Given the description of an element on the screen output the (x, y) to click on. 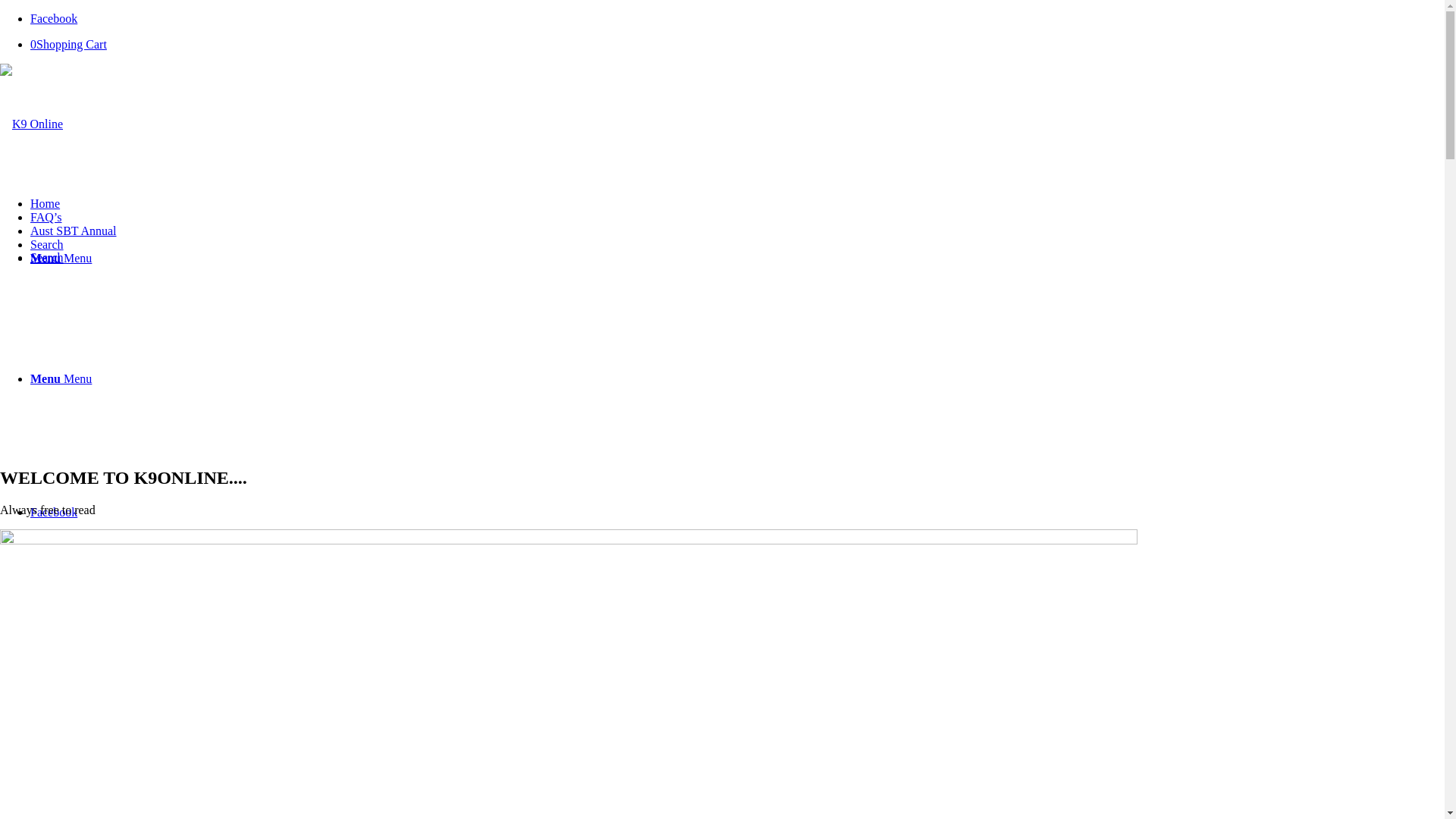
Aust SBT Annual Element type: text (73, 230)
Menu Menu Element type: text (60, 257)
Menu Menu Element type: text (60, 378)
Search Element type: text (46, 257)
Home Element type: text (44, 203)
Facebook Element type: text (53, 511)
Search Element type: text (46, 244)
0Shopping Cart Element type: text (68, 43)
Facebook Element type: text (53, 18)
